Given the description of an element on the screen output the (x, y) to click on. 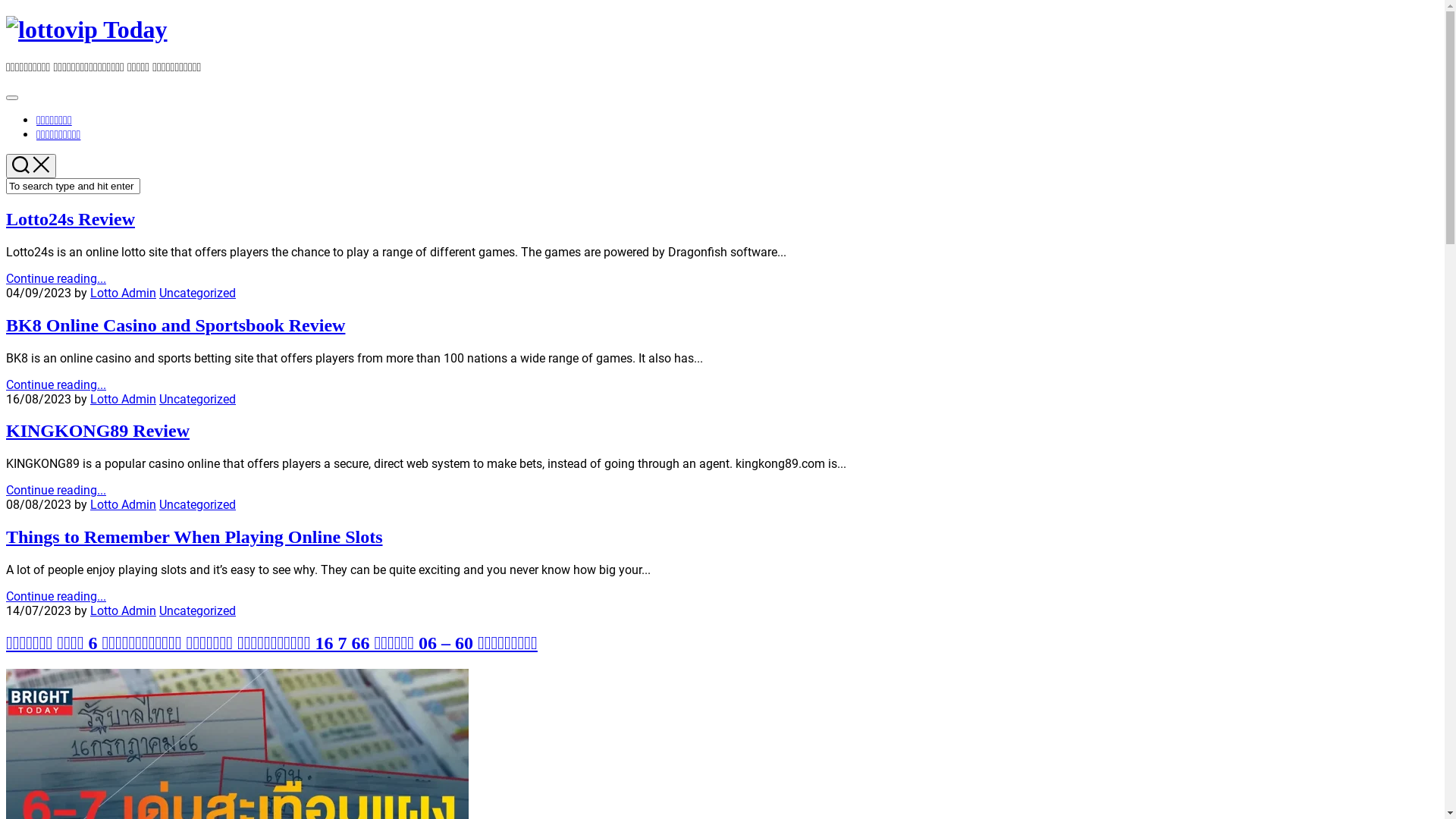
Things to Remember When Playing Online Slots Element type: text (194, 536)
Continue reading... Element type: text (56, 384)
Continue reading... Element type: text (56, 490)
Lotto24s Review Element type: text (70, 219)
Lotto Admin Element type: text (123, 610)
Continue reading... Element type: text (56, 278)
Lotto Admin Element type: text (123, 398)
Uncategorized Element type: text (197, 504)
KINGKONG89 Review Element type: text (97, 430)
Uncategorized Element type: text (197, 292)
Uncategorized Element type: text (197, 398)
Uncategorized Element type: text (197, 610)
Expand Menu Element type: text (12, 97)
Lotto Admin Element type: text (123, 292)
Lotto Admin Element type: text (123, 504)
Skip to content Element type: text (5, 15)
Continue reading... Element type: text (56, 596)
BK8 Online Casino and Sportsbook Review Element type: text (175, 325)
